Given the description of an element on the screen output the (x, y) to click on. 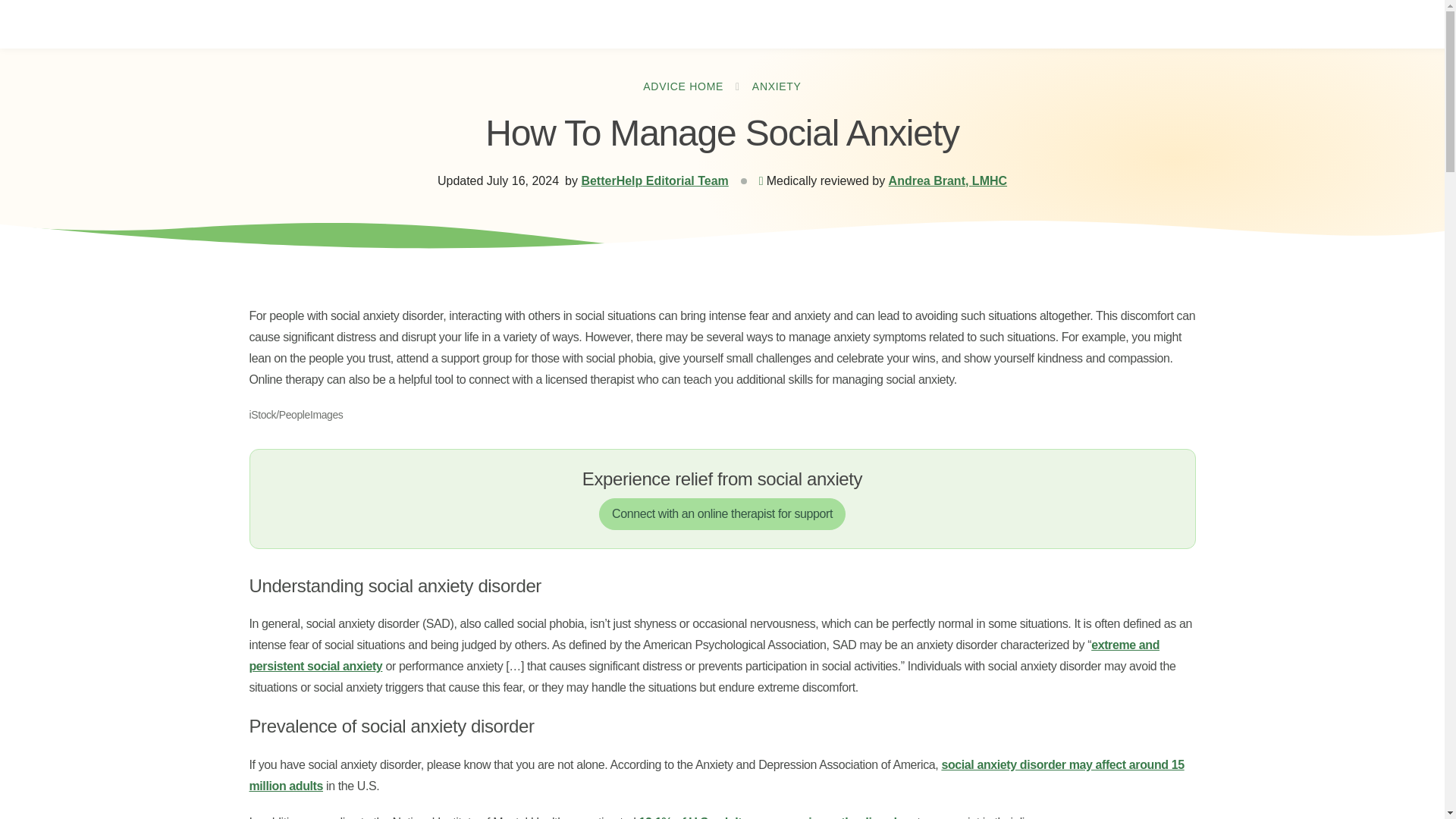
extreme and persistent social anxiety (703, 655)
ANXIETY (777, 86)
Connect with an online therapist for support (721, 513)
BetterHelp Editorial Team (654, 180)
social anxiety disorder may affect around 15 million adults (715, 775)
Andrea Brant, LMHC (947, 180)
ADVICE HOME (683, 86)
